Given the description of an element on the screen output the (x, y) to click on. 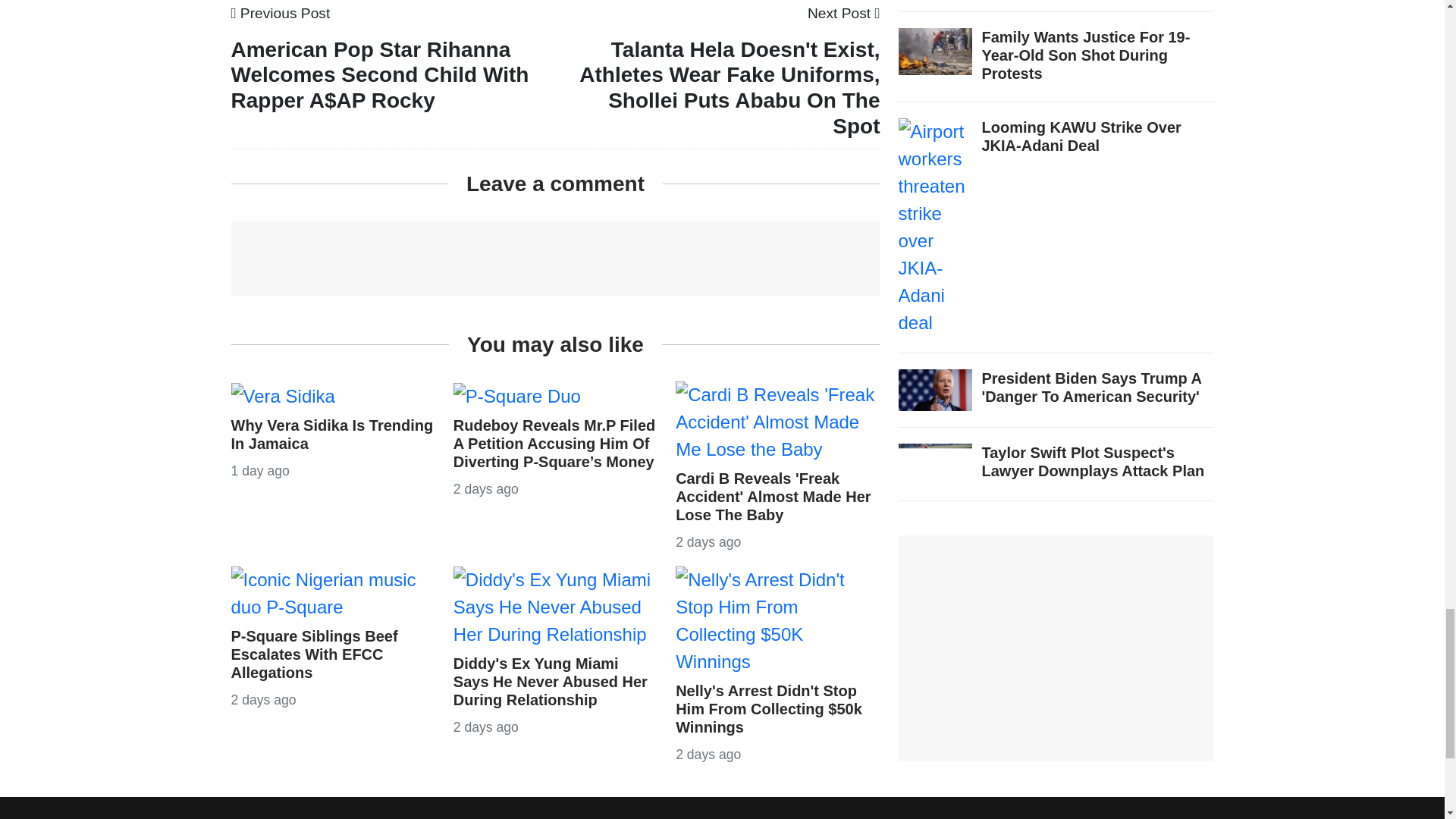
P-Square Siblings Beef Escalates With EFCC Allegations (331, 592)
Next Post (844, 12)
Why Vera Sidika Is Trending In Jamaica (282, 394)
Previous Post (280, 12)
